Given the description of an element on the screen output the (x, y) to click on. 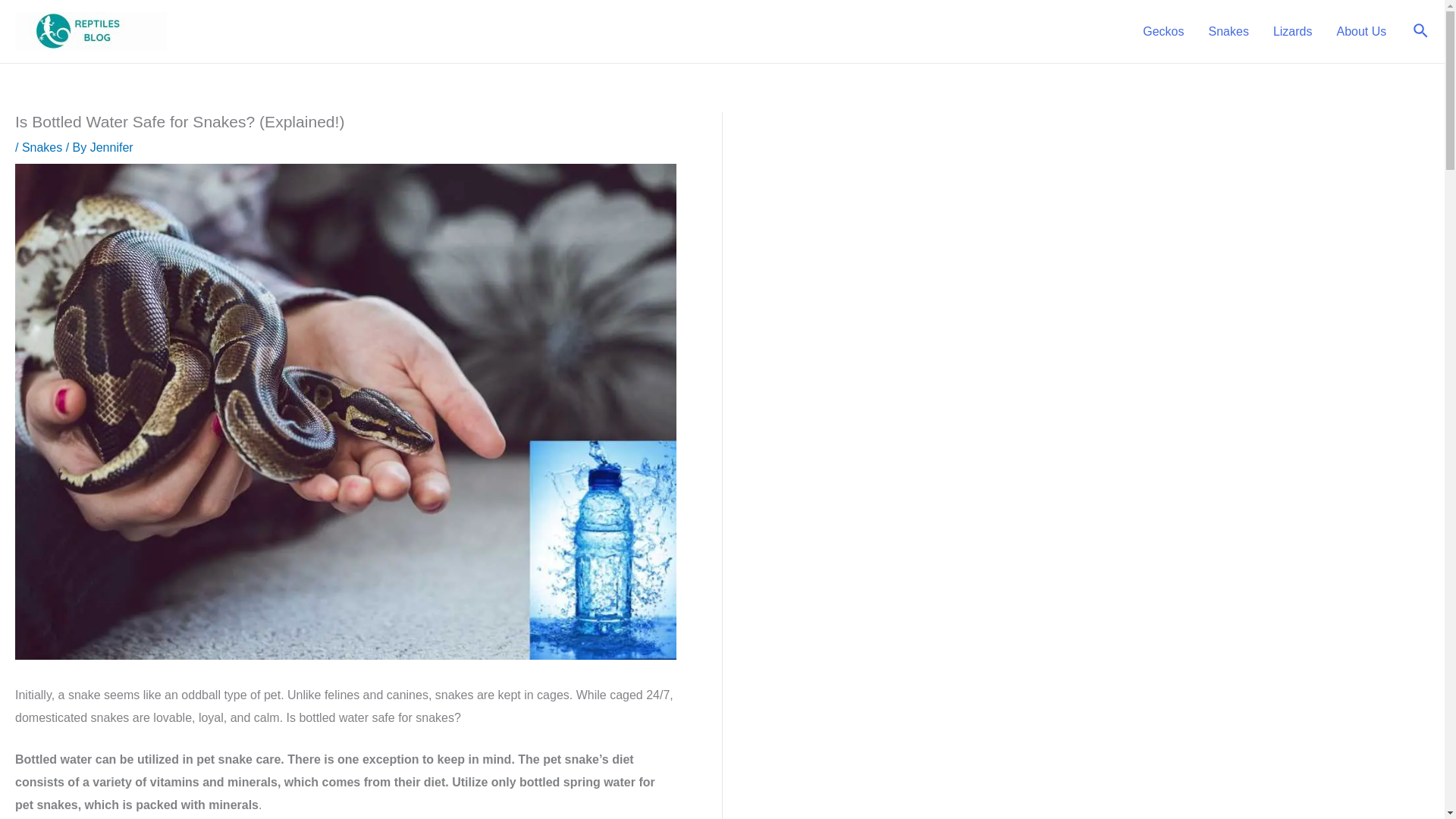
Geckos (1163, 30)
Lizards (1292, 30)
Snakes (41, 146)
Snakes (1228, 30)
View all posts by Jennifer (111, 146)
About Us (1360, 30)
Jennifer (111, 146)
